Given the description of an element on the screen output the (x, y) to click on. 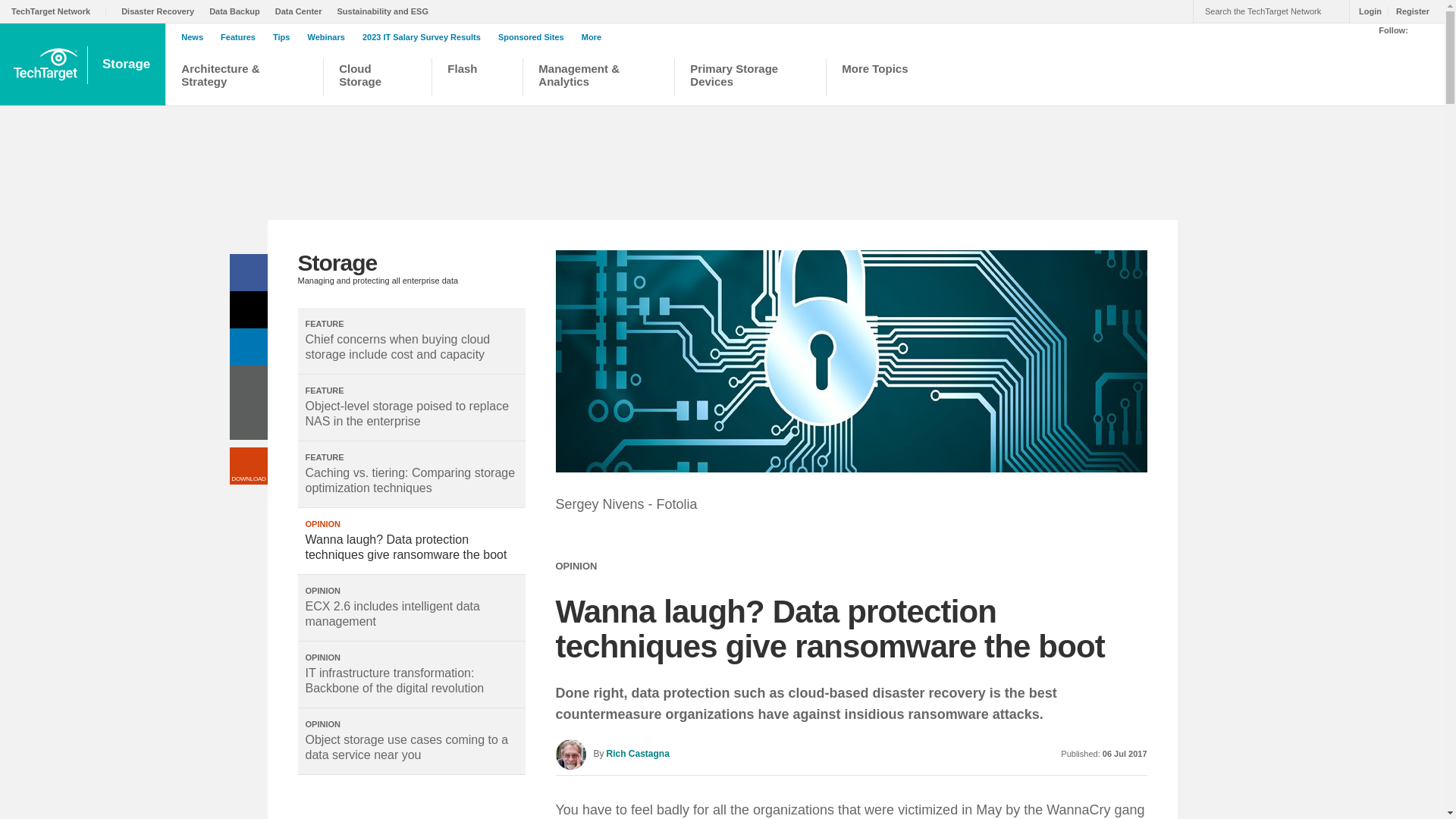
Login (1366, 10)
More Topics (882, 79)
Data Backup (238, 10)
Share on LinkedIn (247, 346)
Disaster Recovery (161, 10)
Sustainability and ESG (386, 10)
Sponsored Sites (534, 36)
2023 IT Salary Survey Results (424, 36)
Data Center (302, 10)
News (195, 36)
